Given the description of an element on the screen output the (x, y) to click on. 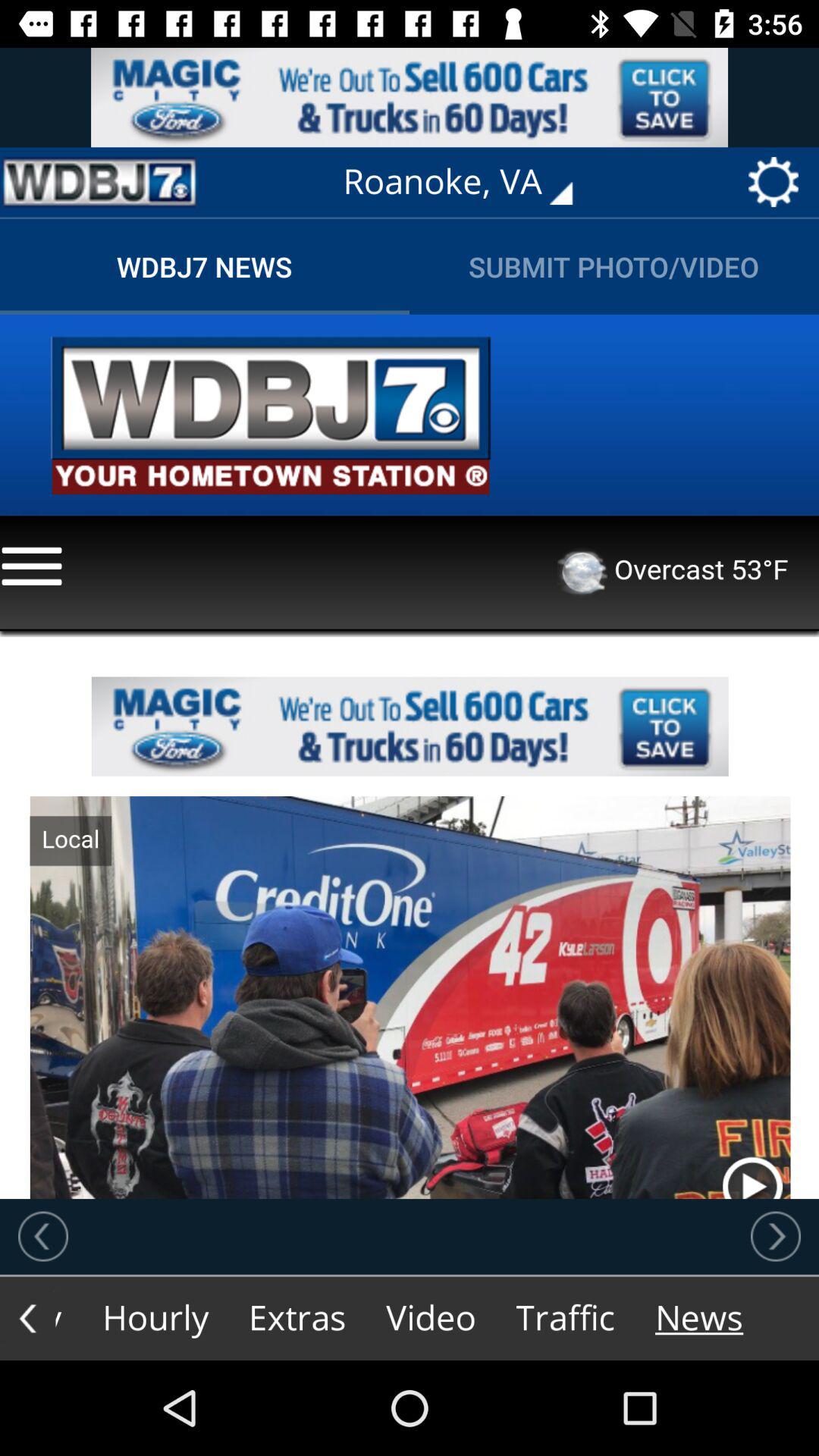
advertisement page (99, 182)
